Given the description of an element on the screen output the (x, y) to click on. 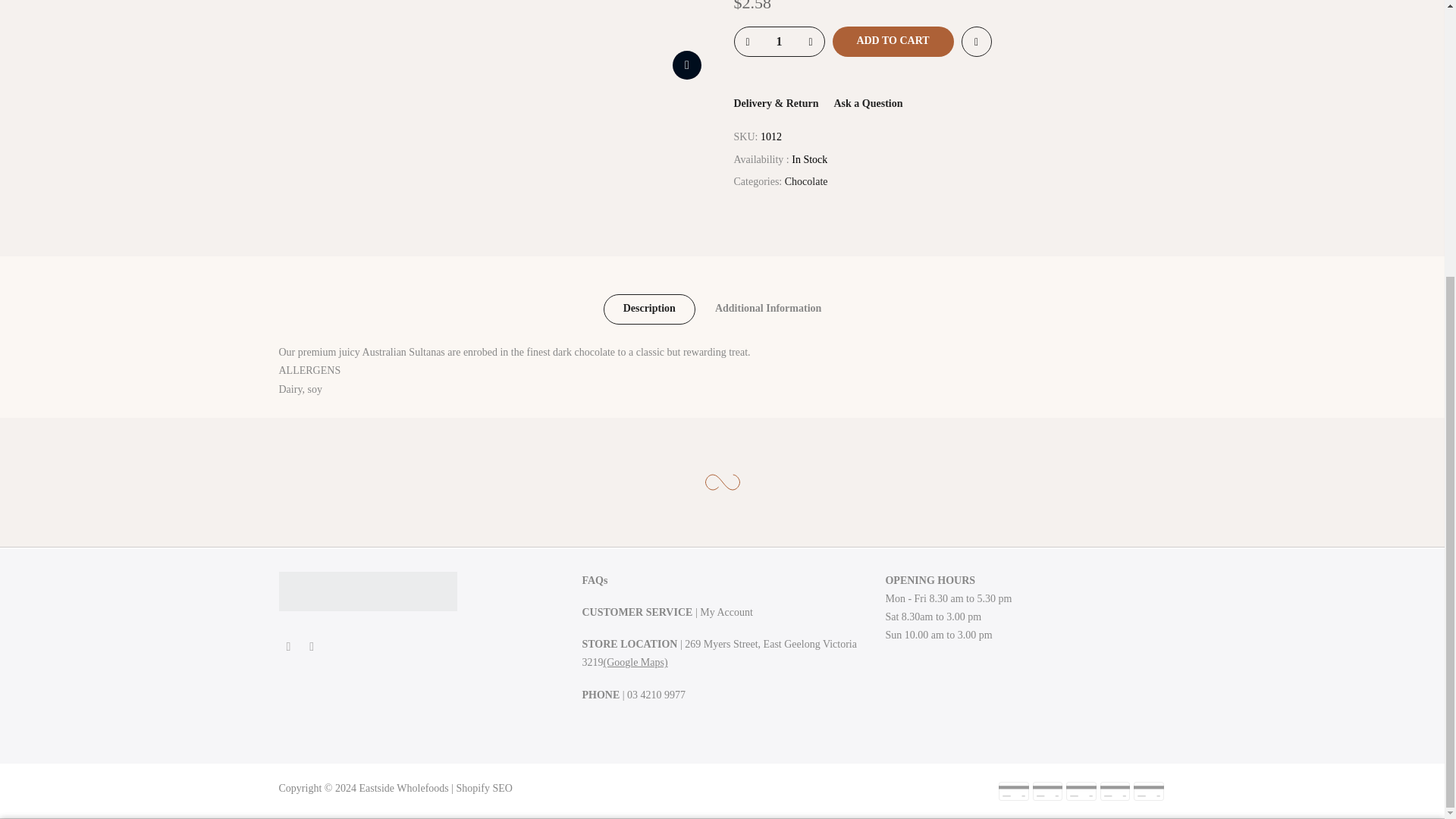
Chocolate (806, 181)
1 (1001, 444)
FAQs (593, 580)
ADD TO CART (892, 41)
My Account (726, 612)
Additional Information (768, 309)
Description (649, 309)
Shopify SEO (484, 787)
1 (778, 41)
03 4210 9977 (656, 695)
Ask a Question (867, 102)
